Given the description of an element on the screen output the (x, y) to click on. 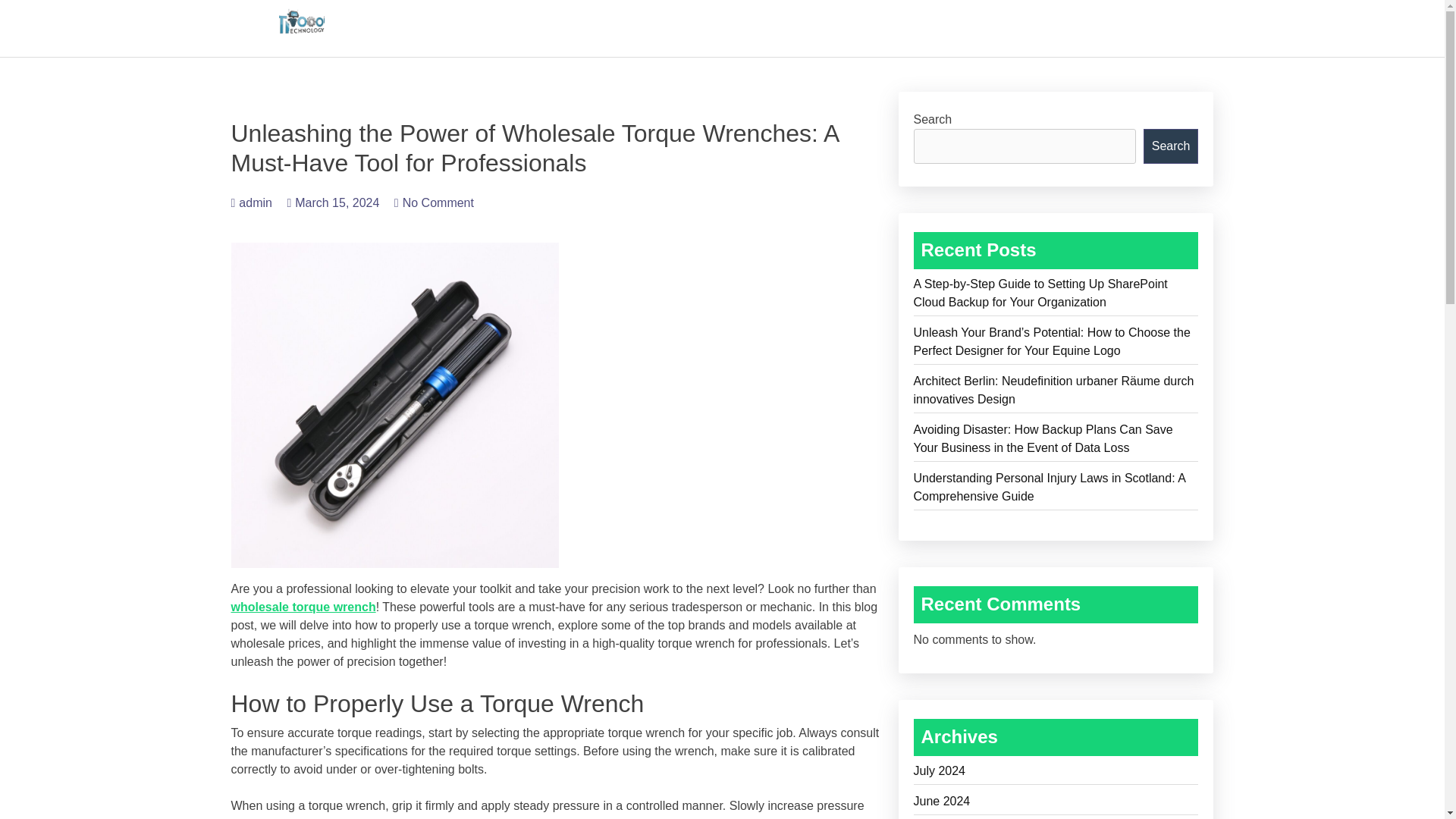
Search (1170, 145)
July 2024 (1055, 773)
admin (250, 202)
March 15, 2024 (332, 202)
June 2024 (1055, 803)
wholesale torque wrench (302, 606)
No Comment (434, 202)
